Given the description of an element on the screen output the (x, y) to click on. 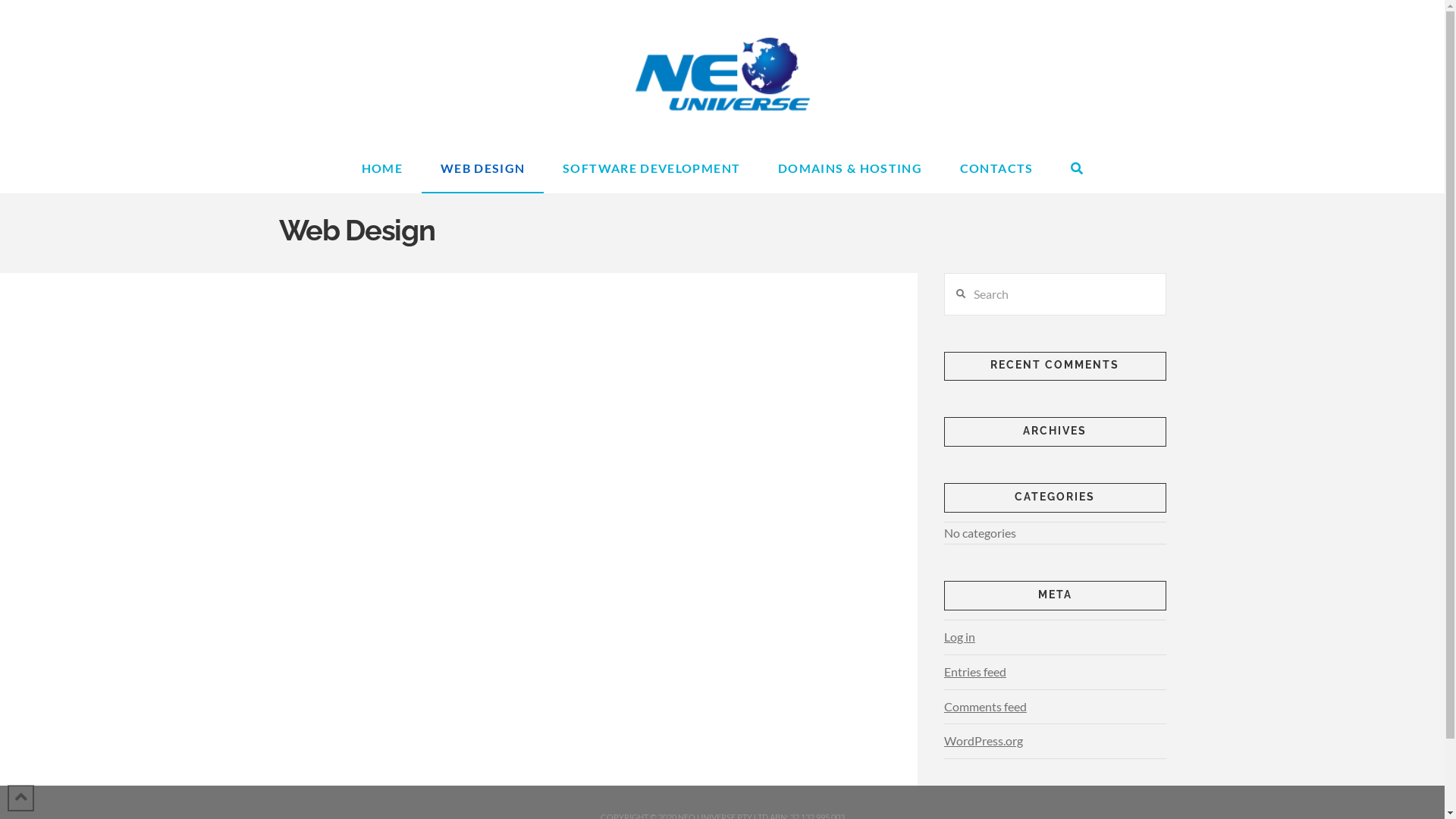
Log in Element type: text (959, 637)
SOFTWARE DEVELOPMENT Element type: text (651, 168)
WordPress.org Element type: text (983, 741)
Comments feed Element type: text (985, 707)
HOME Element type: text (381, 168)
DOMAINS & HOSTING Element type: text (850, 168)
CONTACTS Element type: text (996, 168)
WEB DESIGN Element type: text (482, 168)
Entries feed Element type: text (975, 672)
Back to Top Element type: hover (20, 797)
